Given the description of an element on the screen output the (x, y) to click on. 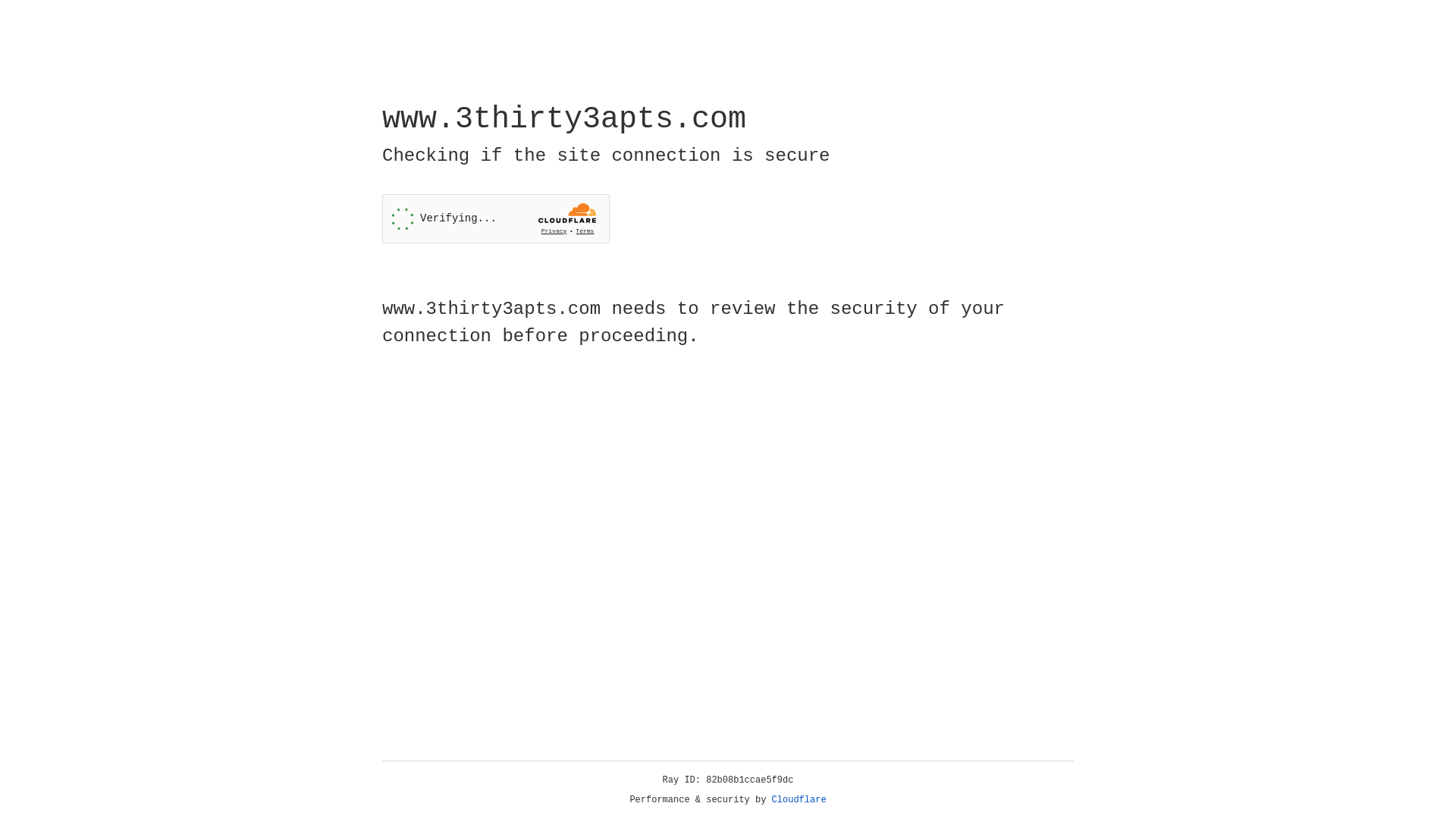
Cloudflare Element type: text (798, 799)
Widget containing a Cloudflare security challenge Element type: hover (495, 218)
